Given the description of an element on the screen output the (x, y) to click on. 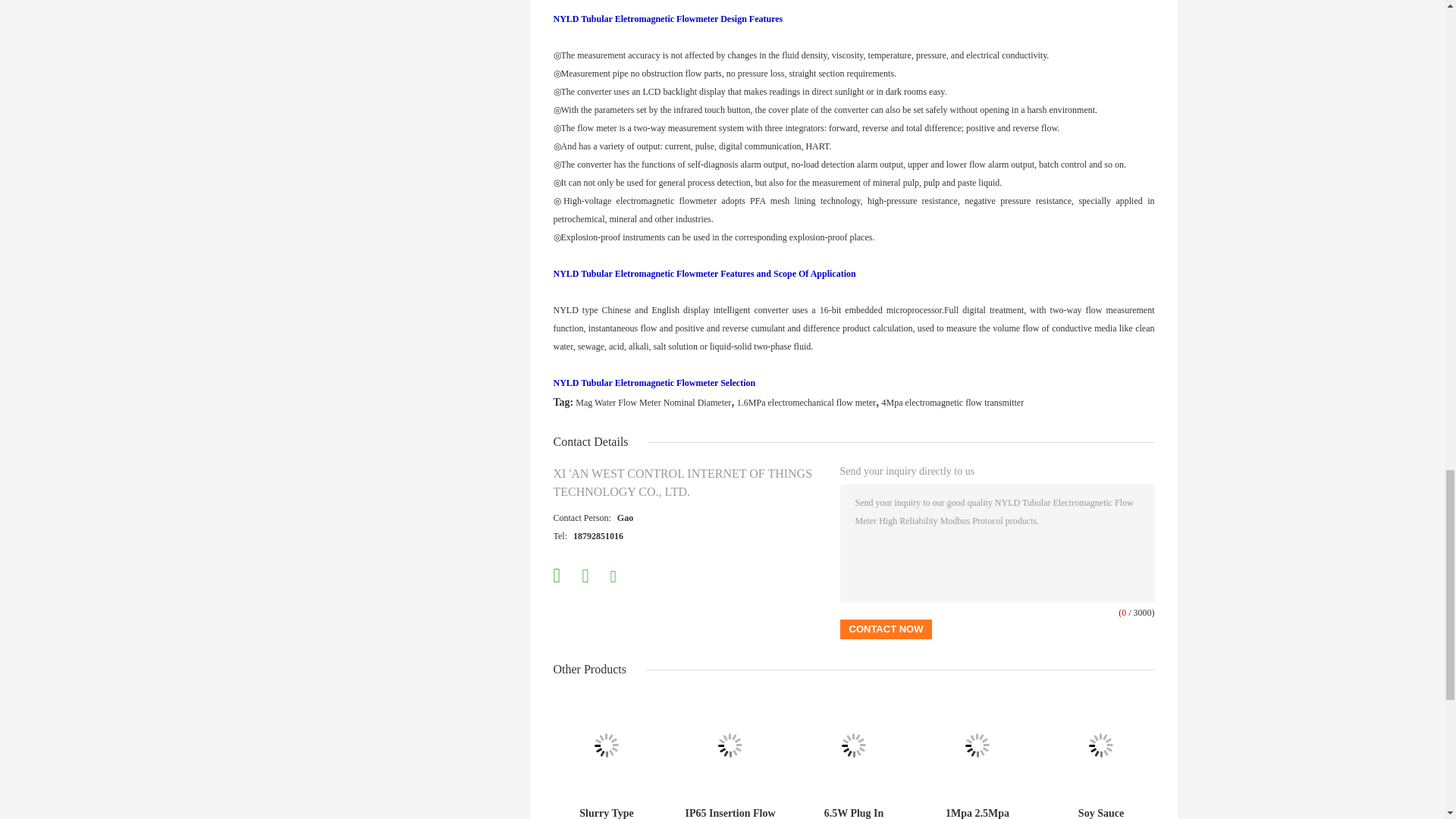
Contact Now (886, 629)
